Given the description of an element on the screen output the (x, y) to click on. 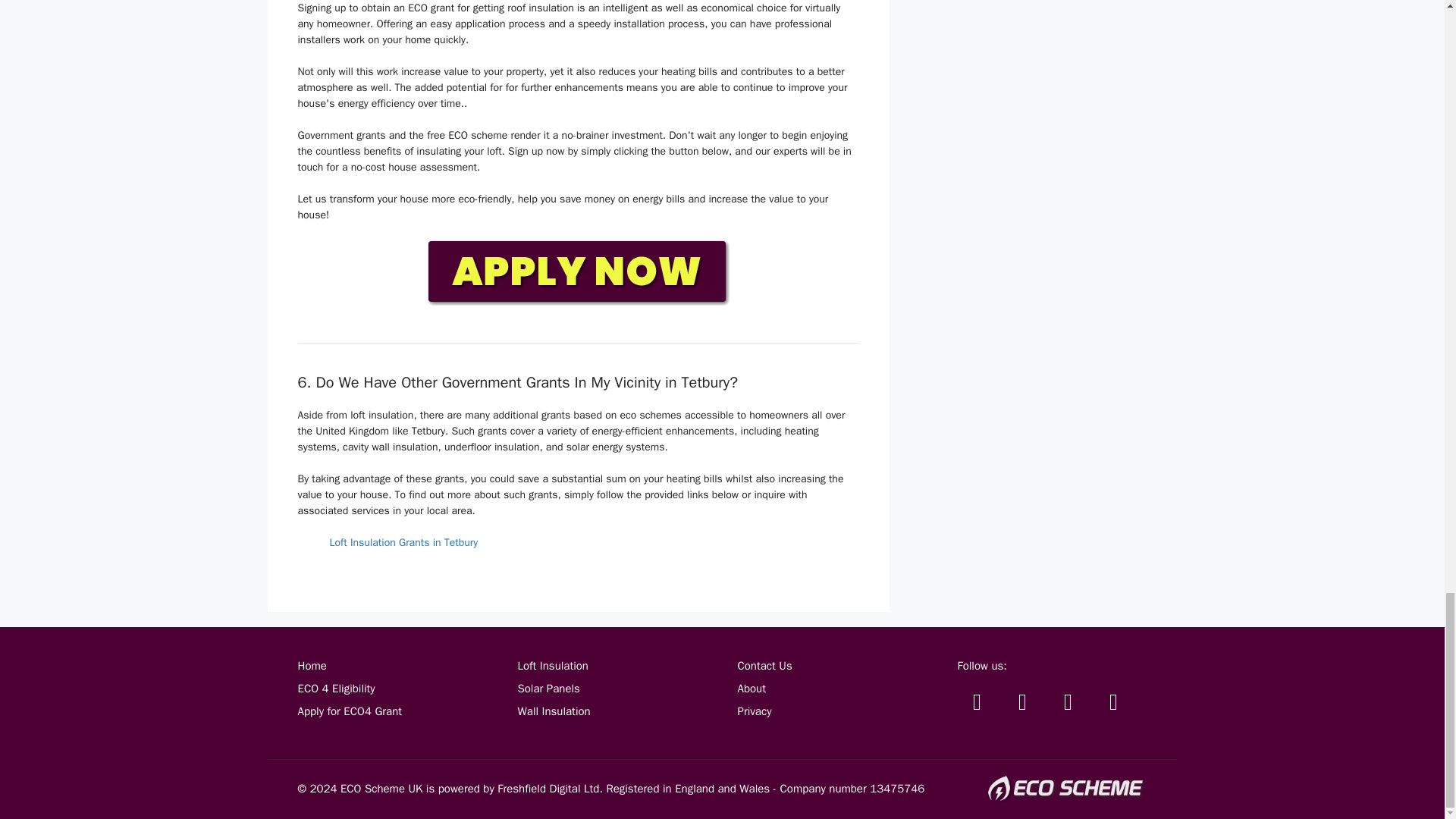
YouTube (1067, 701)
About (750, 688)
Loft Insulation Grants in Tetbury (403, 542)
Facebook (1022, 701)
ECO Scheme UK (381, 788)
Solar Panels (547, 688)
Loft Insulation (552, 665)
Wall Insulation (552, 711)
ECO 4 Eligibility (335, 688)
Privacy (753, 711)
Contact Us (764, 665)
ecoschemeuk.com (1066, 788)
Loft Insulation Grants in Tetbury (403, 542)
Apply for ECO4 Grant (349, 711)
Home (311, 665)
